Given the description of an element on the screen output the (x, y) to click on. 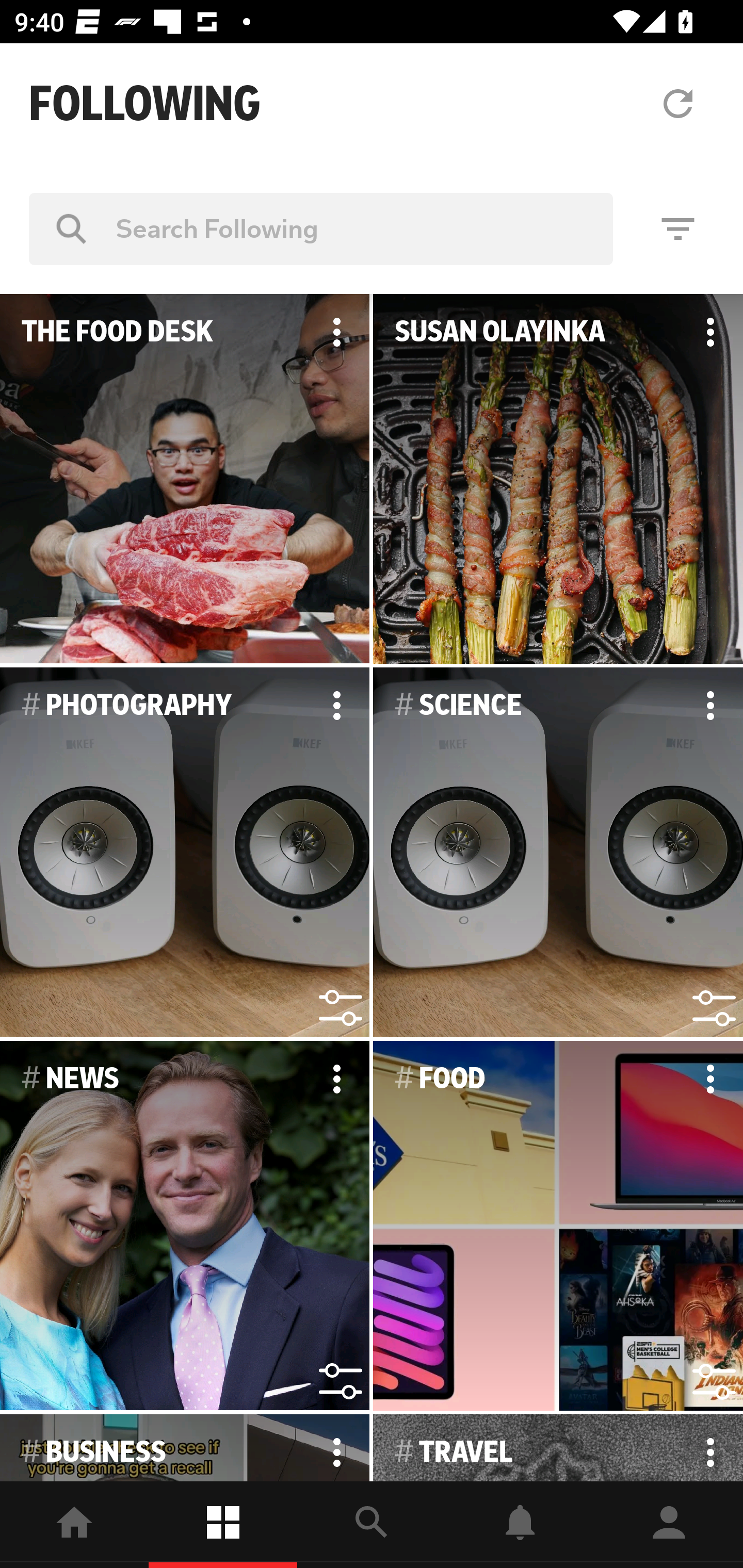
Search Following (320, 228)
THE FOOD DESK Options (184, 478)
Options (336, 332)
SUSAN OLAYINKA Options (557, 478)
Options (710, 332)
# PHOTOGRAPHY Options (184, 852)
Options (336, 705)
# SCIENCE Options (557, 852)
Options (710, 705)
# NEWS Options (184, 1226)
Options (336, 1078)
# FOOD Options (557, 1226)
Options (710, 1078)
Options (336, 1447)
Options (710, 1447)
home (74, 1524)
Following (222, 1524)
explore (371, 1524)
Notifications (519, 1524)
Profile (668, 1524)
